Given the description of an element on the screen output the (x, y) to click on. 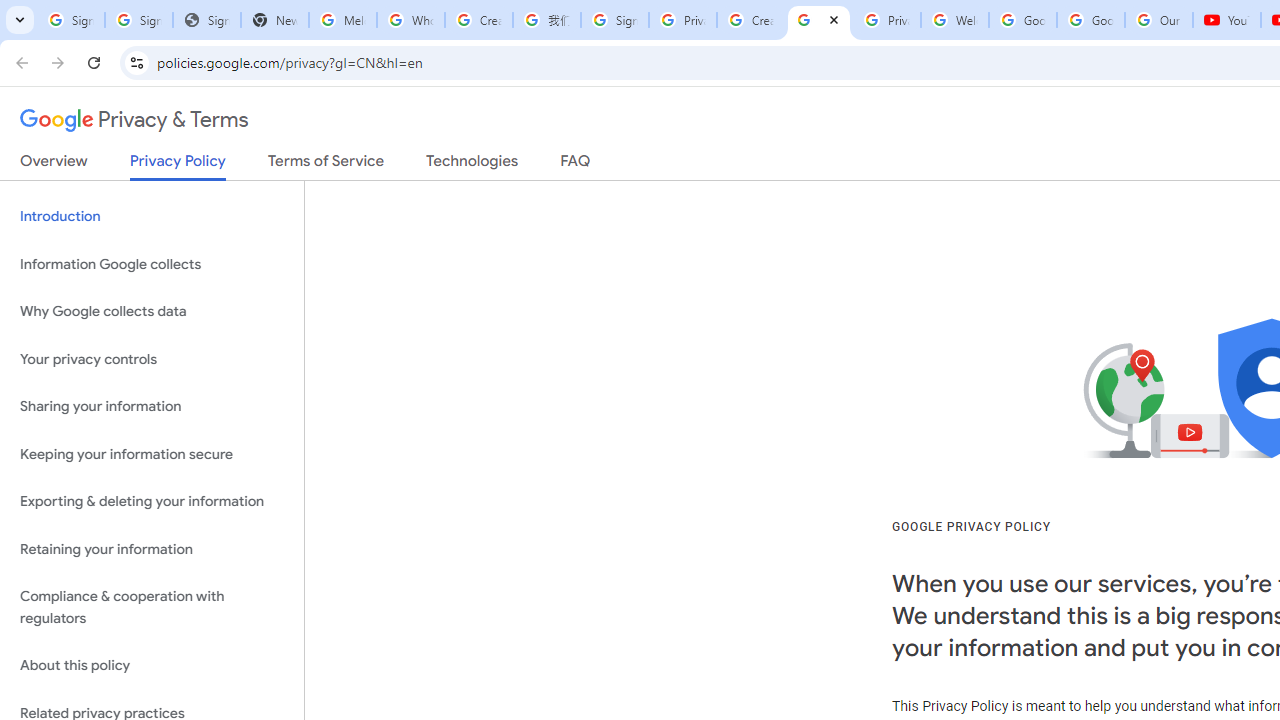
Who is my administrator? - Google Account Help (411, 20)
Your privacy controls (152, 358)
Retaining your information (152, 548)
Compliance & cooperation with regulators (152, 607)
About this policy (152, 666)
